Given the description of an element on the screen output the (x, y) to click on. 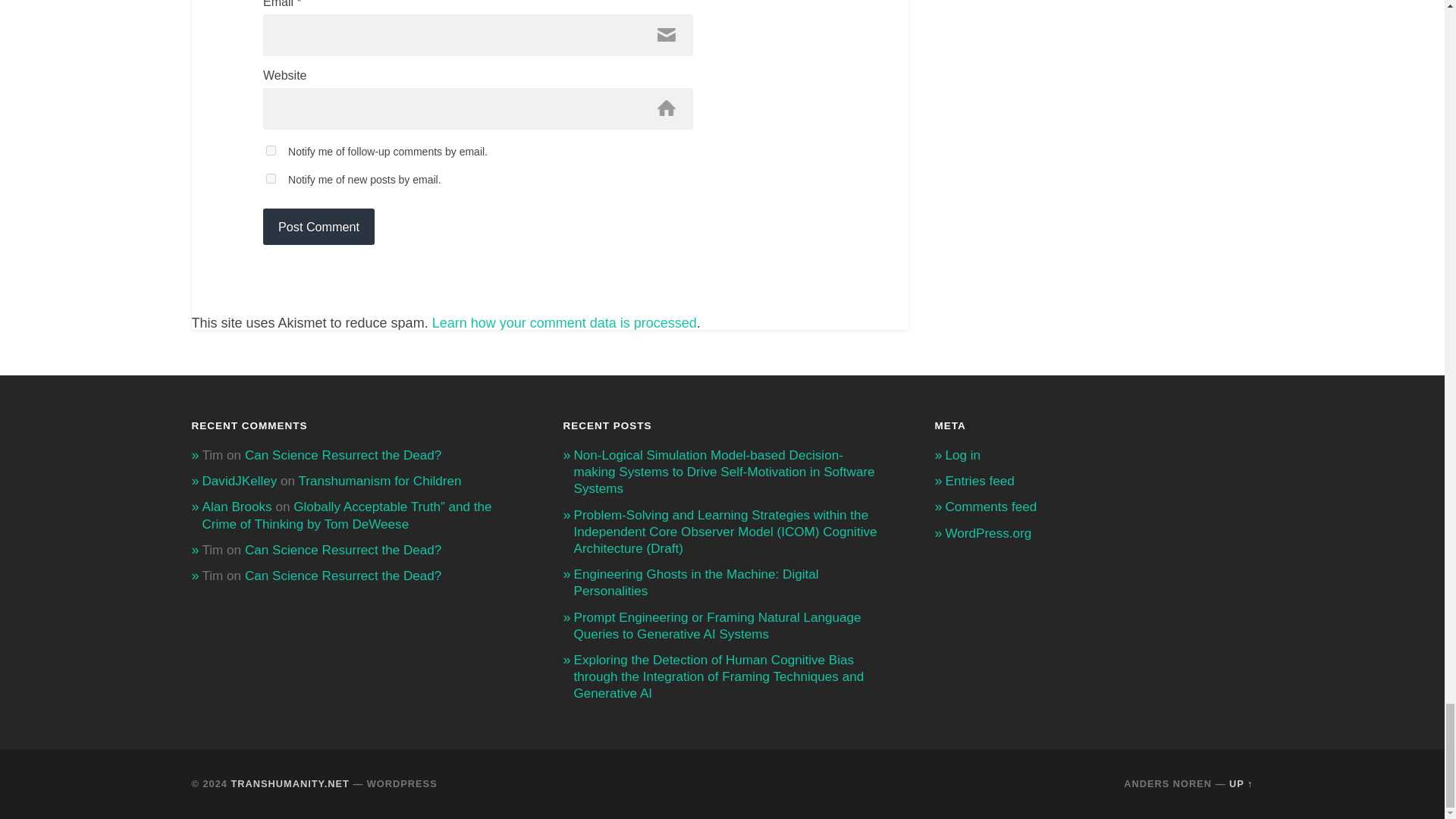
subscribe (271, 178)
subscribe (271, 150)
Post Comment (318, 226)
